Given the description of an element on the screen output the (x, y) to click on. 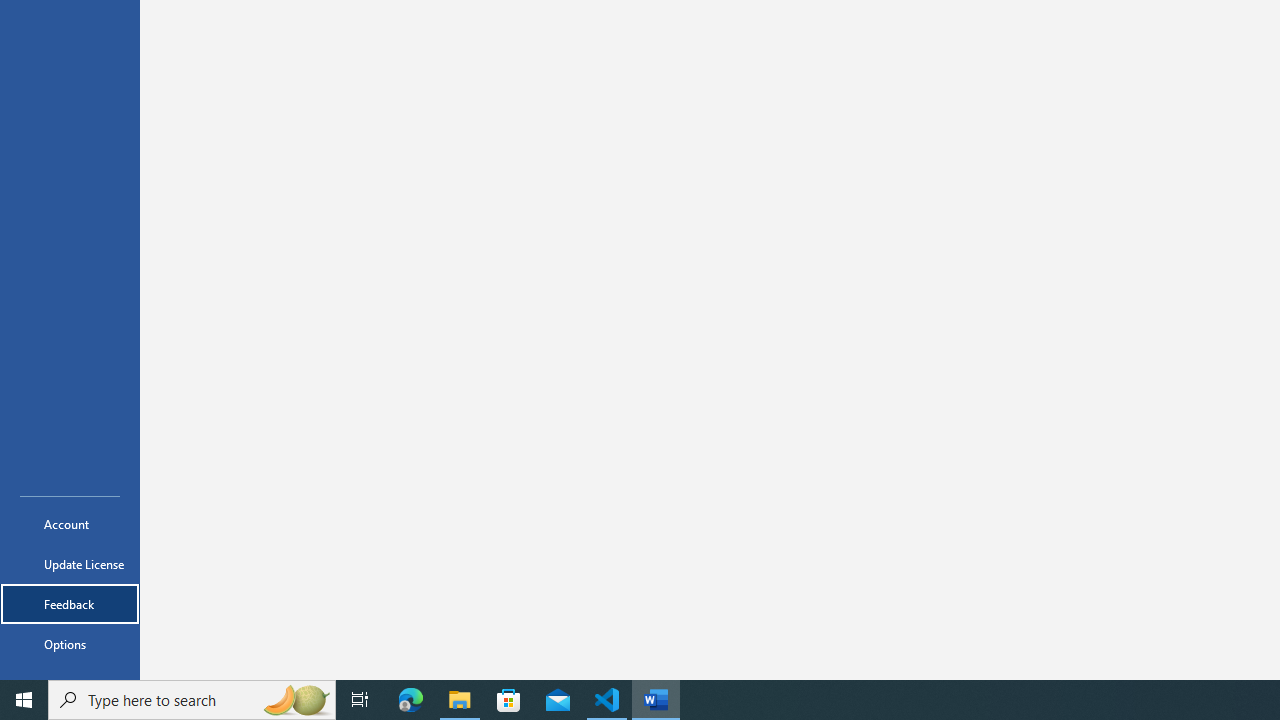
Feedback (69, 603)
Account (69, 523)
Options (69, 643)
Update License (69, 563)
